Given the description of an element on the screen output the (x, y) to click on. 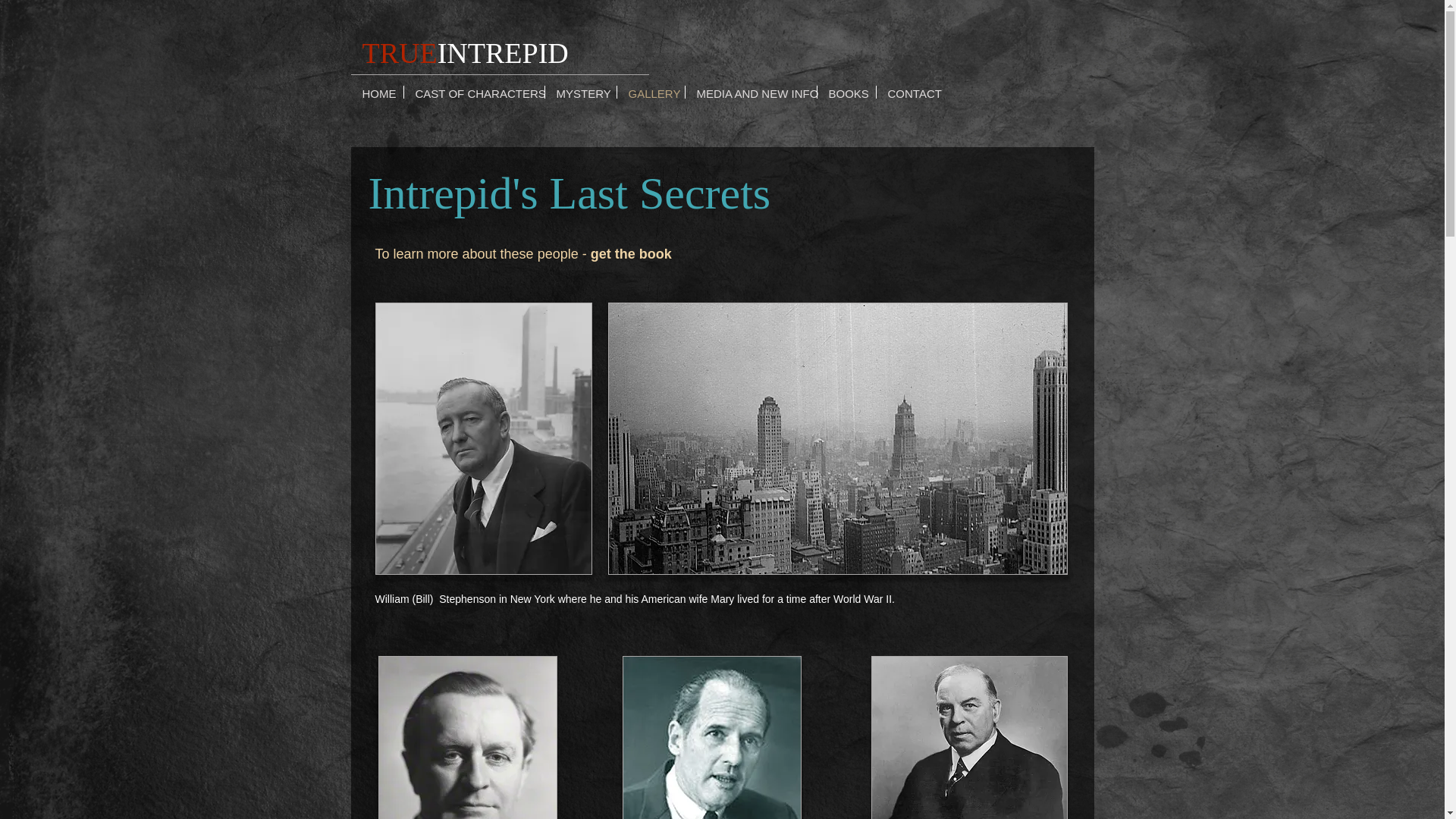
CAST OF CHARACTERS (473, 91)
GALLERY (650, 91)
MEDIA AND NEW INFO (750, 91)
MYSTERY (579, 91)
get the book (631, 253)
TRUEINTREPID (465, 52)
BOOKS (846, 91)
CONTACT (912, 91)
HOME (376, 91)
